Given the description of an element on the screen output the (x, y) to click on. 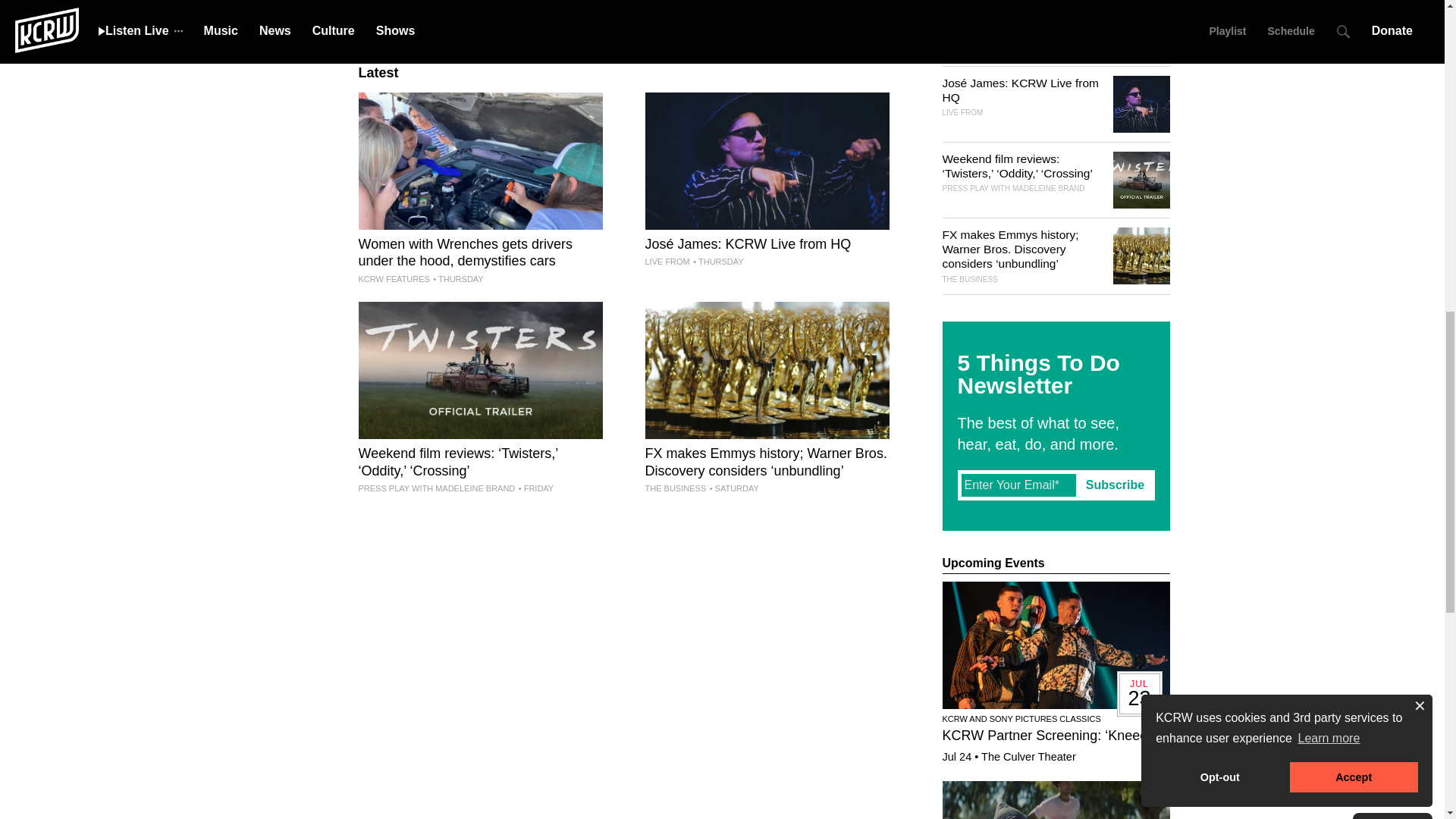
Saturday, July 20th 2024, 5:30 am (734, 488)
Thursday, July 18th 2024, 10:00 pm (717, 261)
Jad Abumrad (393, 2)
Thursday, July 18th 2024, 3:00 pm (457, 278)
Subscribe (1114, 485)
Robert Krulwich (479, 2)
Friday, July 19th 2024, 3:00 am (535, 488)
